Given the description of an element on the screen output the (x, y) to click on. 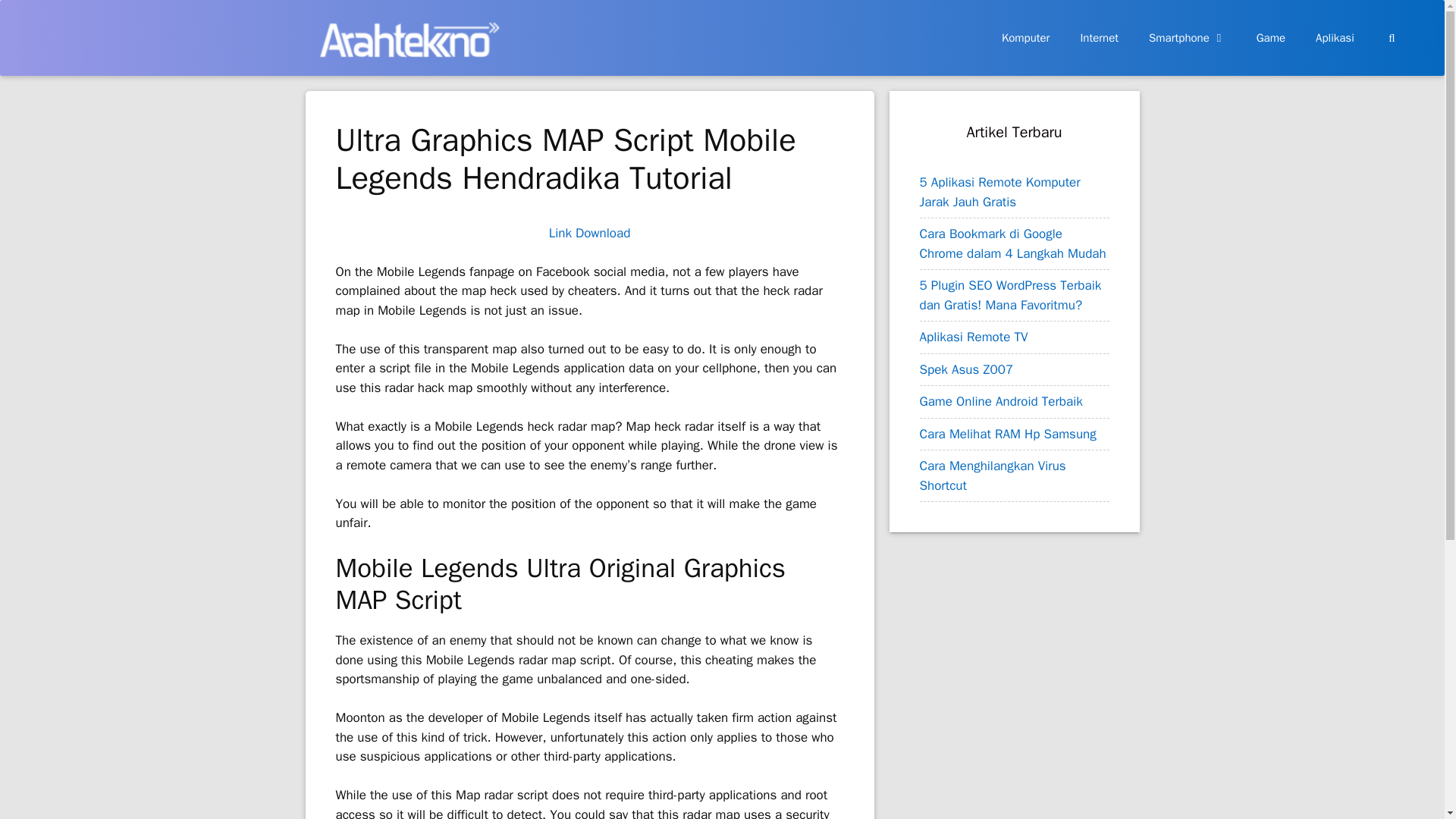
Cara Menghilangkan Virus Shortcut (991, 475)
Game Online Android Terbaik (999, 401)
Komputer (1026, 37)
5 Aplikasi Remote Komputer Jarak Jauh Gratis (999, 191)
Link Download (589, 232)
Smartphone (1187, 37)
Game (1270, 37)
Spek Asus Z007 (965, 368)
Aplikasi Remote TV (972, 336)
5 Plugin SEO WordPress Terbaik dan Gratis! Mana Favoritmu? (1009, 294)
